Given the description of an element on the screen output the (x, y) to click on. 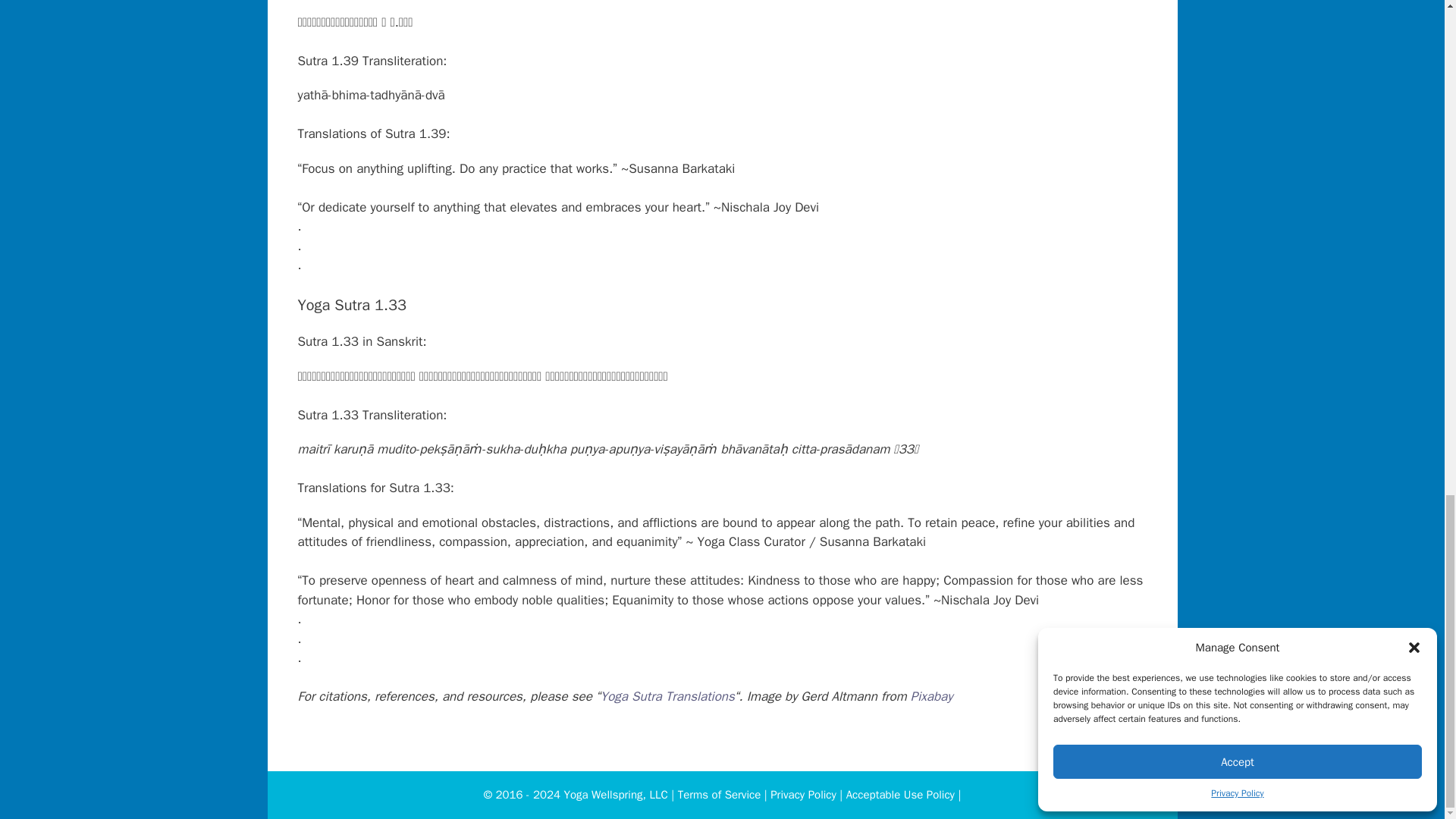
Website Privacy Policy (802, 794)
Website Terms of Service (719, 794)
Website Acceptable Use Policy (900, 794)
